Given the description of an element on the screen output the (x, y) to click on. 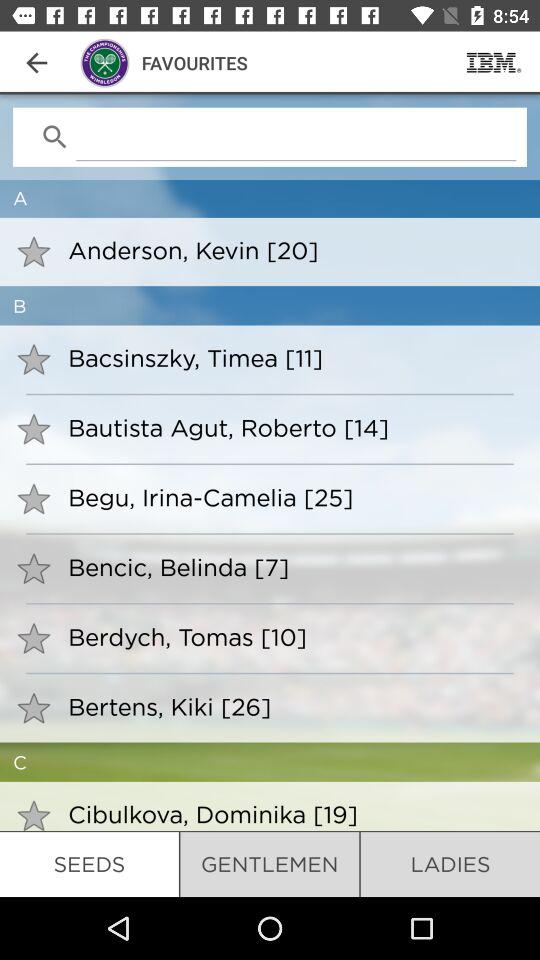
click bacsinszky, timea [11] (290, 357)
